Given the description of an element on the screen output the (x, y) to click on. 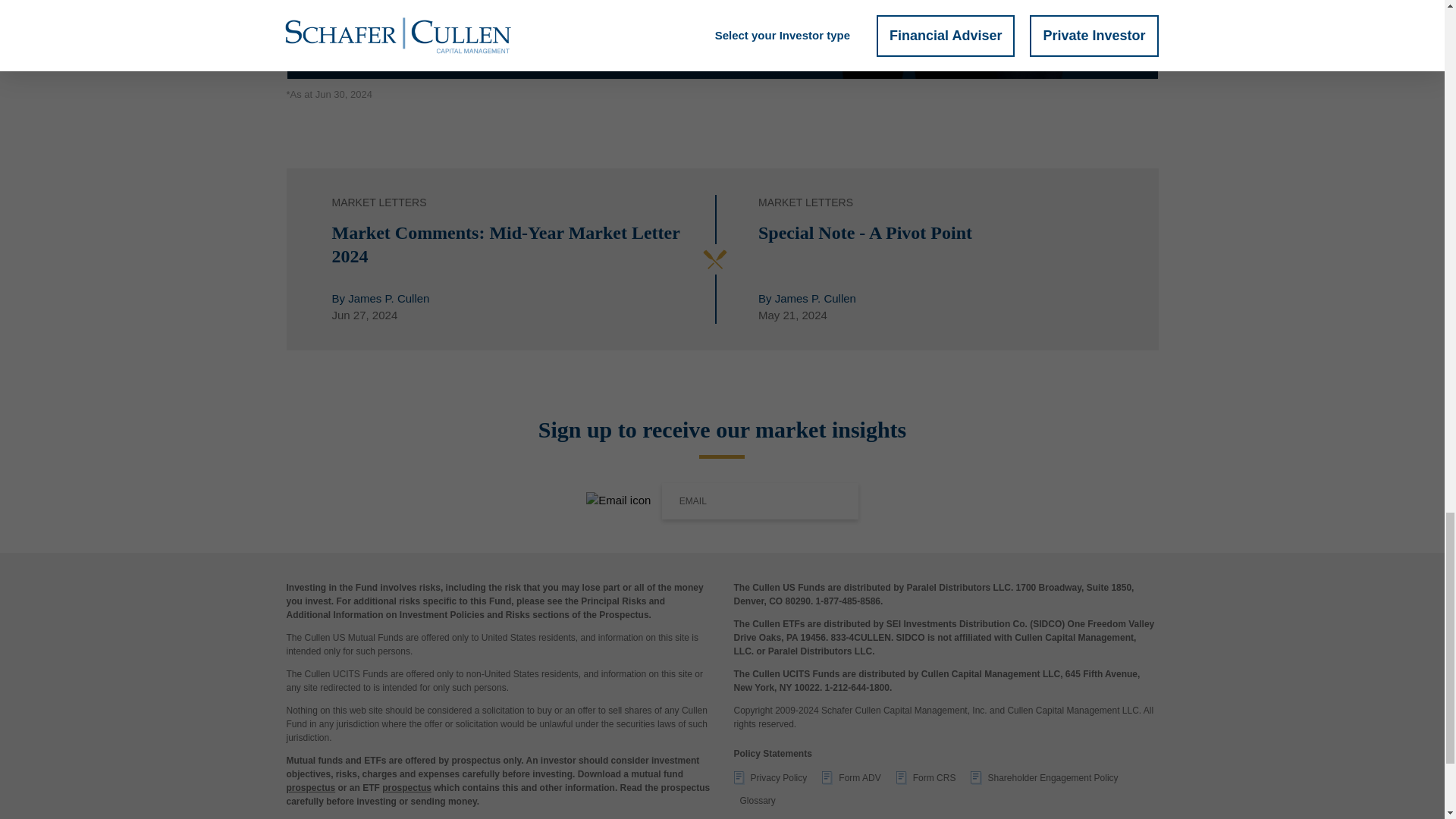
None (926, 780)
None (1044, 780)
Prospectus (311, 787)
None (851, 780)
None (770, 780)
